Given the description of an element on the screen output the (x, y) to click on. 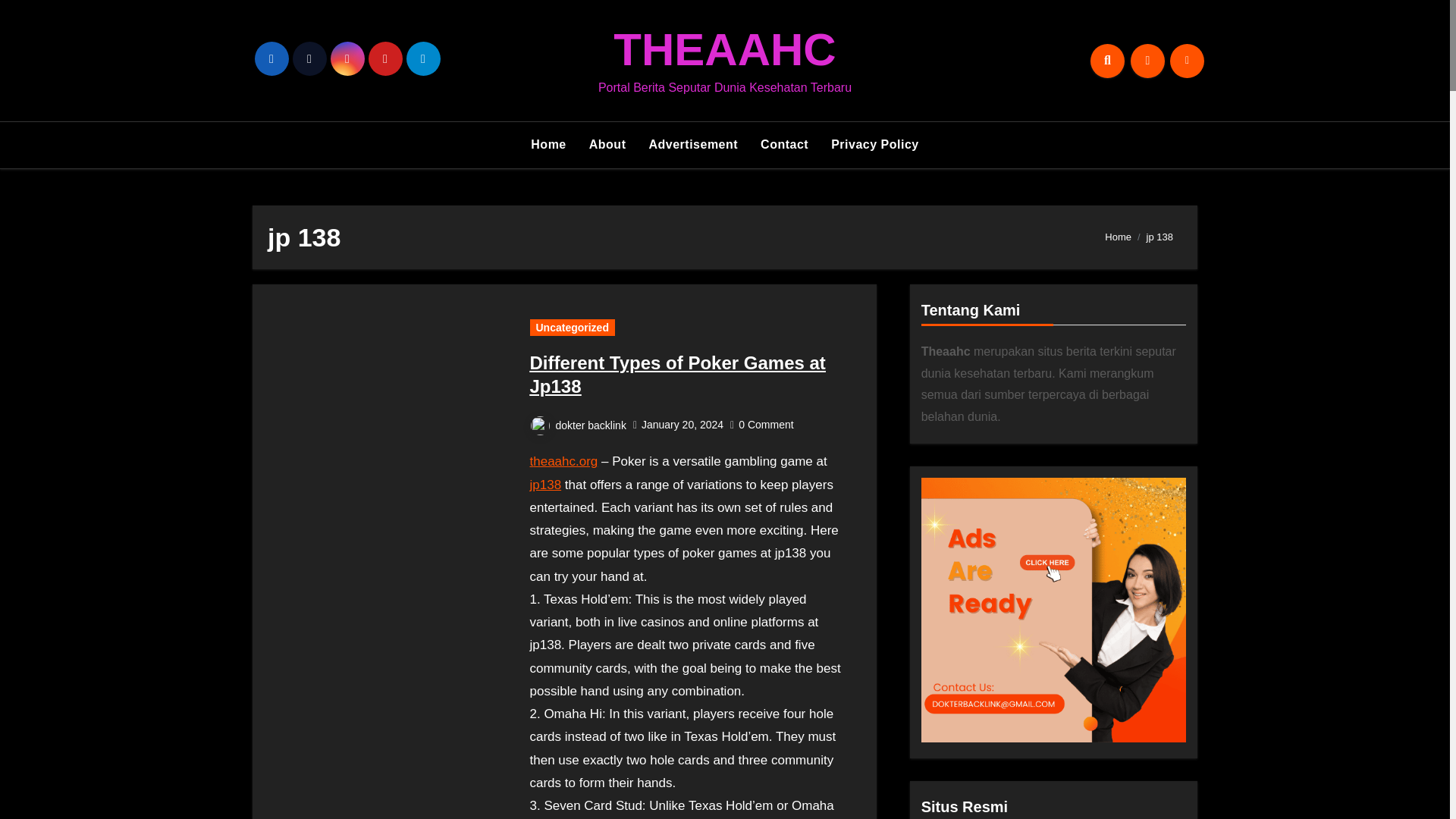
January 20, 2024 (682, 424)
theaahc.org (562, 461)
Advertisement (693, 144)
Uncategorized (571, 327)
0Comment (767, 424)
About (607, 144)
THEAAHC (723, 49)
Different Types of Poker Games at Jp138 (677, 374)
jp138 (544, 484)
Home (547, 144)
